Given the description of an element on the screen output the (x, y) to click on. 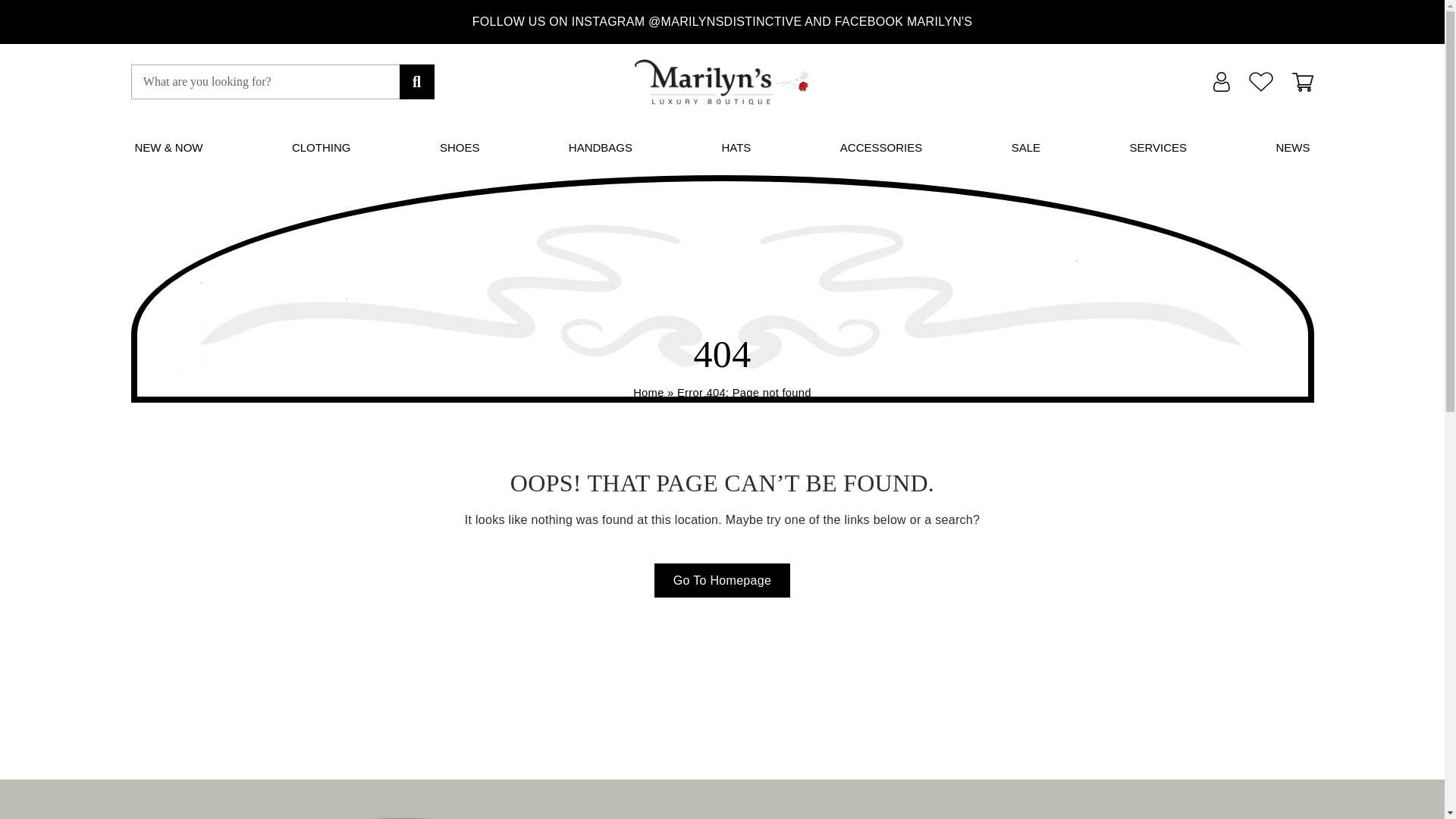
CLOTHING (321, 147)
